Given the description of an element on the screen output the (x, y) to click on. 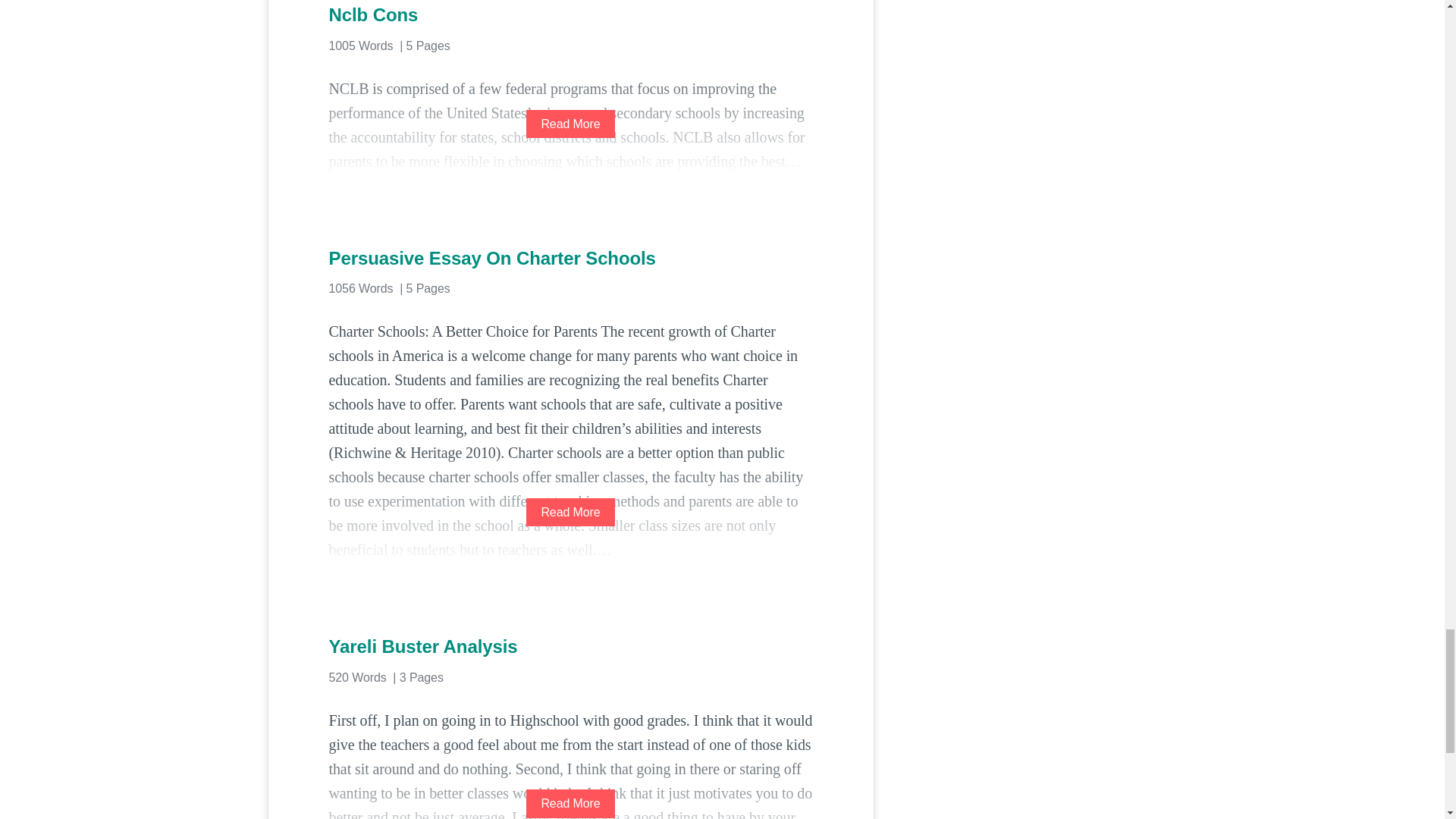
Yareli Buster Analysis (570, 646)
Read More (569, 123)
Read More (569, 803)
Read More (569, 511)
Persuasive Essay On Charter Schools (570, 258)
Nclb Cons (570, 15)
